Given the description of an element on the screen output the (x, y) to click on. 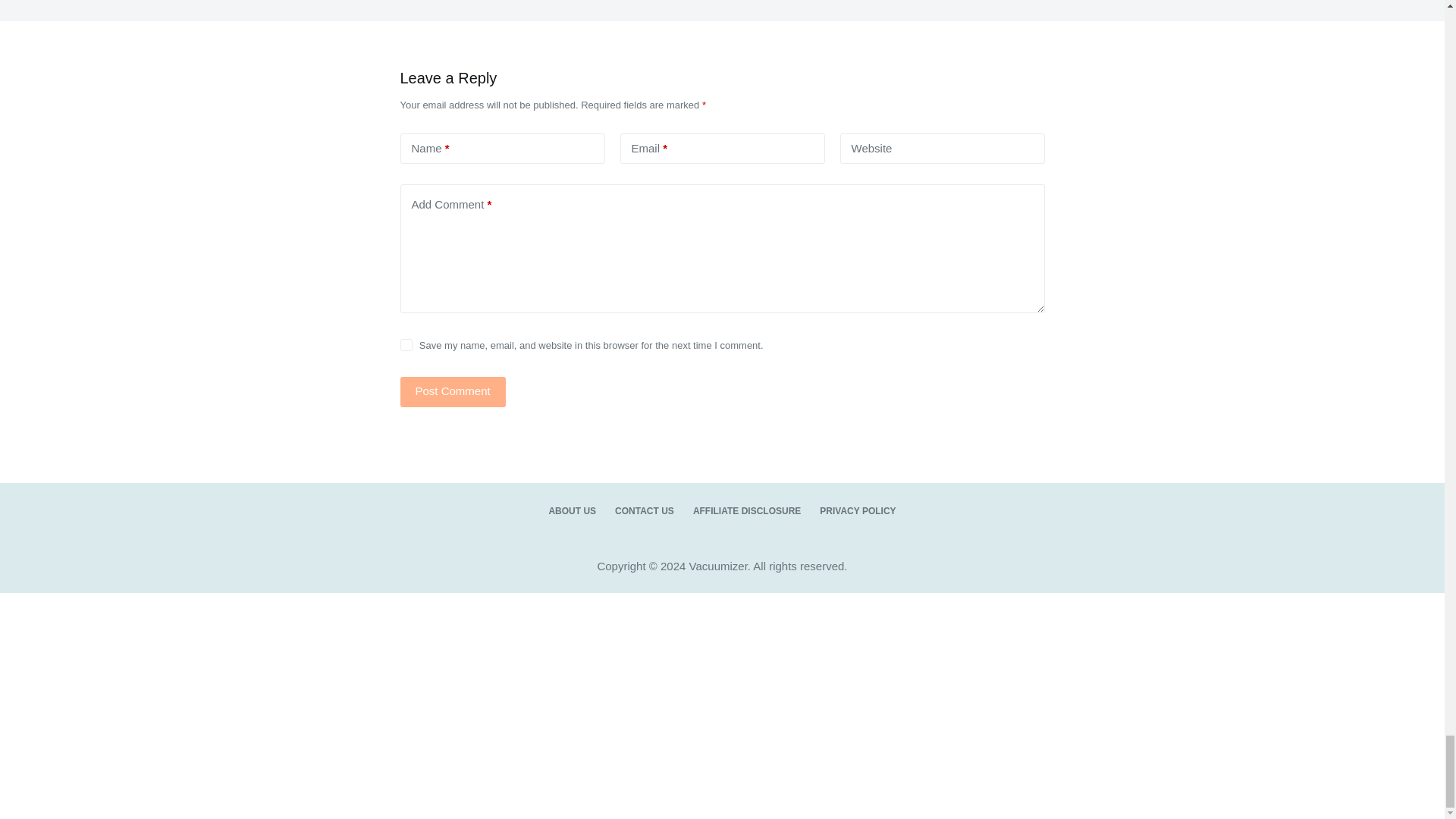
yes (406, 345)
